Given the description of an element on the screen output the (x, y) to click on. 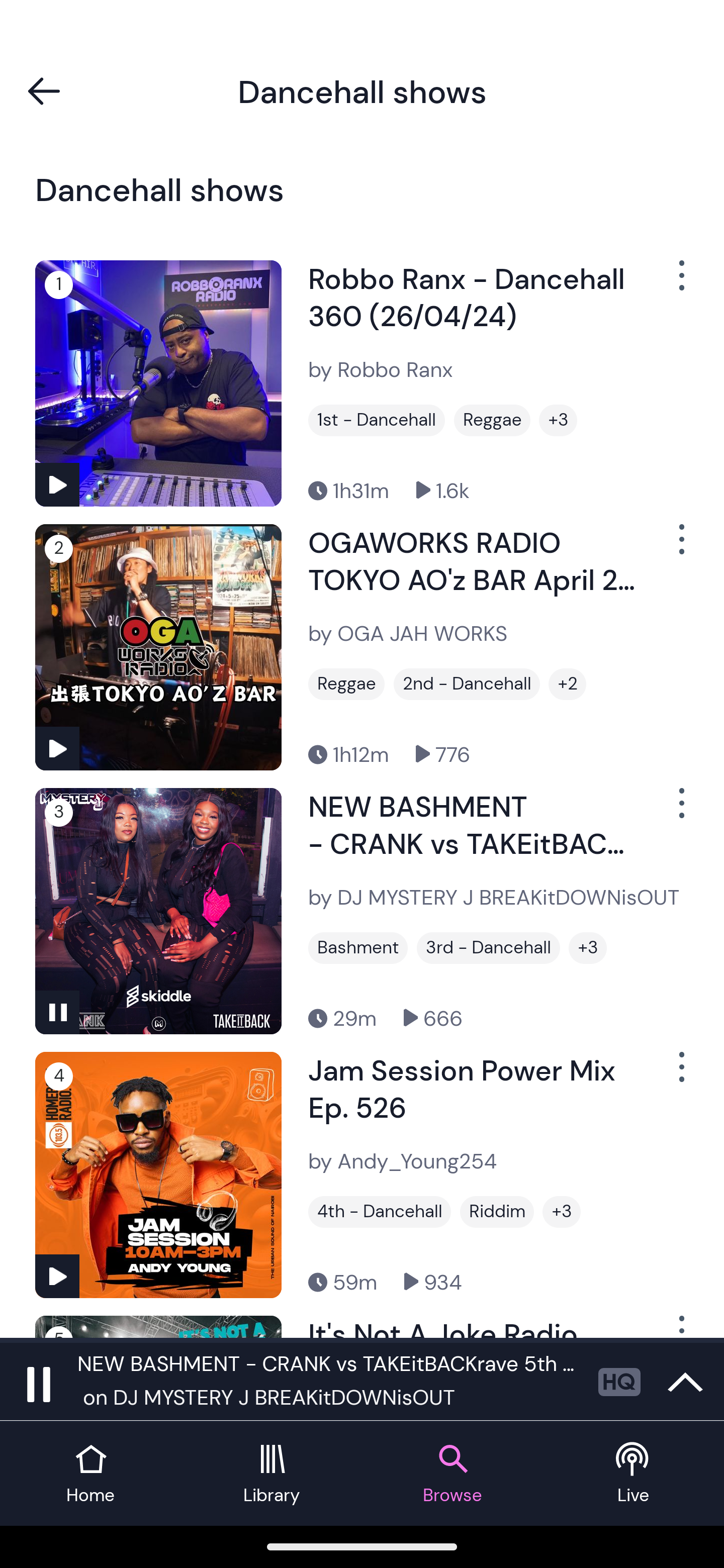
Show Options Menu Button (679, 282)
1st - Dancehall (376, 419)
Reggae (491, 419)
Show Options Menu Button (679, 546)
Reggae (346, 683)
2nd - Dancehall (466, 683)
Show Options Menu Button (679, 811)
Bashment (357, 948)
3rd - Dancehall (488, 948)
Show Options Menu Button (679, 1074)
4th - Dancehall (379, 1211)
Riddim (496, 1211)
Home tab Home (90, 1473)
Library tab Library (271, 1473)
Browse tab Browse (452, 1473)
Live tab Live (633, 1473)
